Given the description of an element on the screen output the (x, y) to click on. 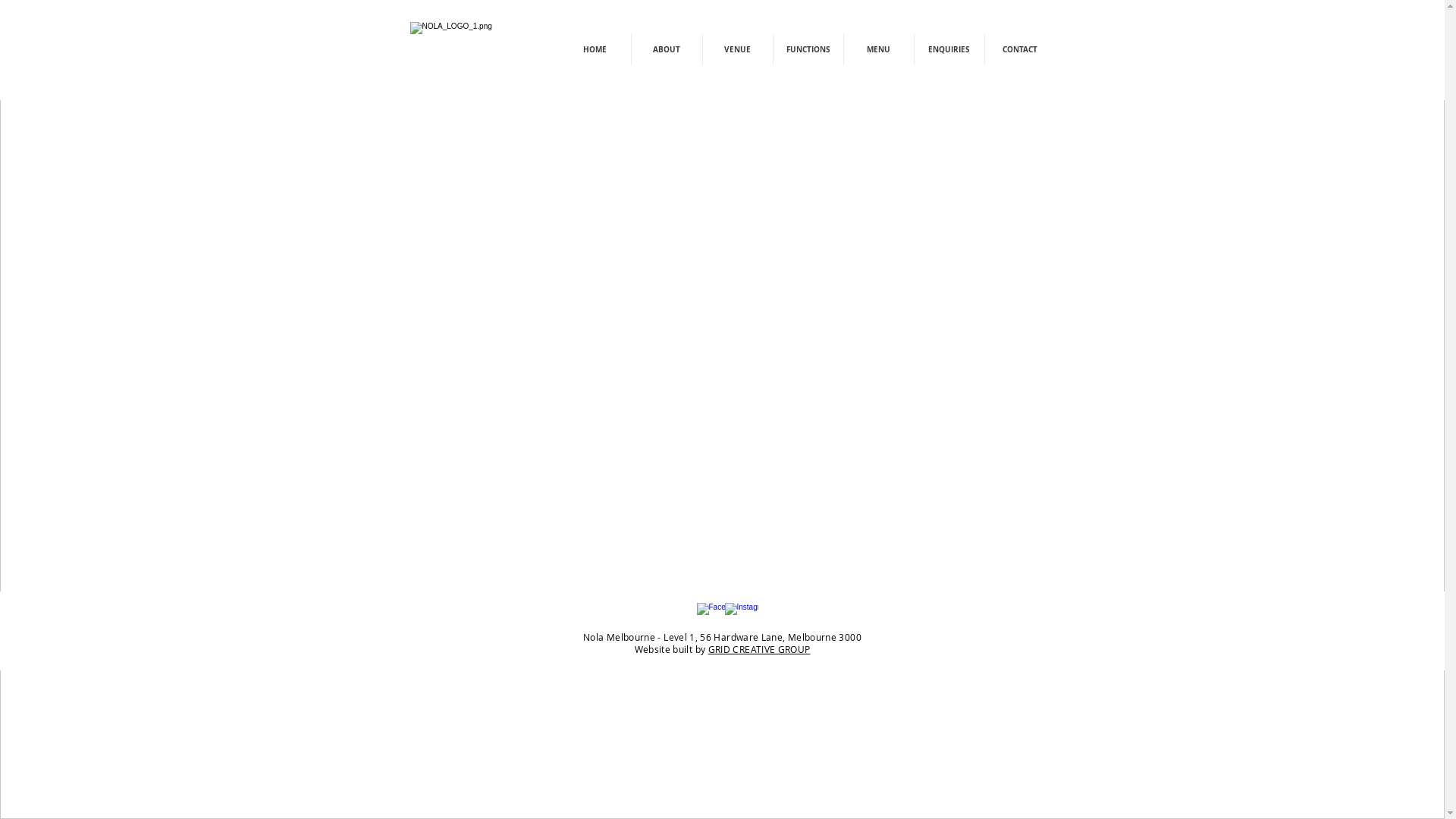
VENUE Element type: text (736, 49)
GRID CREATIVE GROUP Element type: text (759, 649)
MENU Element type: text (878, 49)
ENQUIRIES Element type: text (949, 49)
ABOUT Element type: text (665, 49)
CONTACT Element type: text (1019, 49)
HOME Element type: text (594, 49)
